Given the description of an element on the screen output the (x, y) to click on. 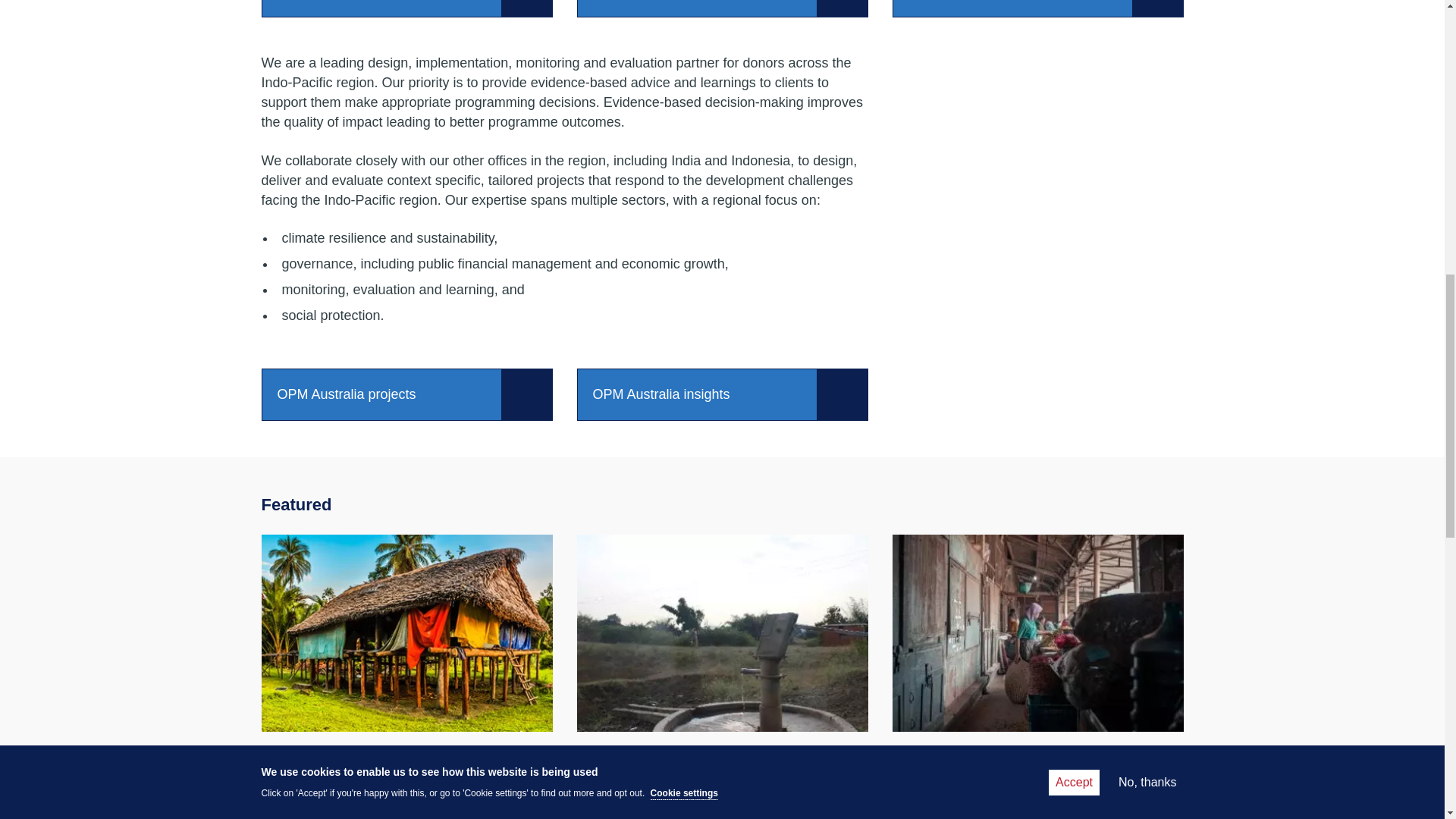
Go to Prospera economic evaluation (990, 752)
Go to Supporting inclusive growth in Papua New Guinea (398, 762)
